Given the description of an element on the screen output the (x, y) to click on. 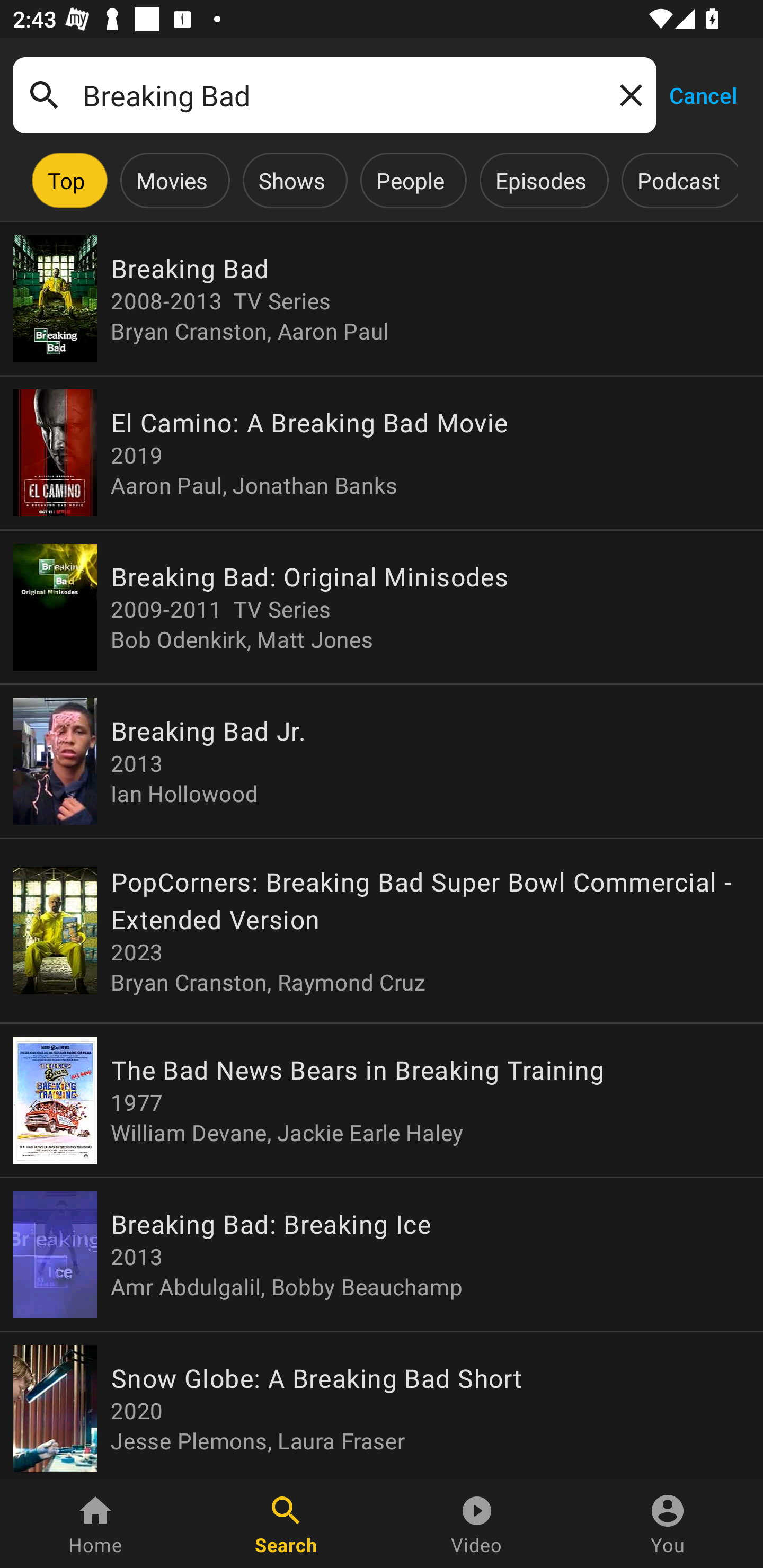
Clear query (627, 94)
Cancel (703, 94)
Breaking Bad (334, 95)
Top (66, 180)
Movies (171, 180)
Shows (291, 180)
People (410, 180)
Episodes (540, 180)
Podcast (678, 180)
Breaking Bad Jr. 2013 Ian Hollowood (381, 761)
Home (95, 1523)
Video (476, 1523)
You (667, 1523)
